Given the description of an element on the screen output the (x, y) to click on. 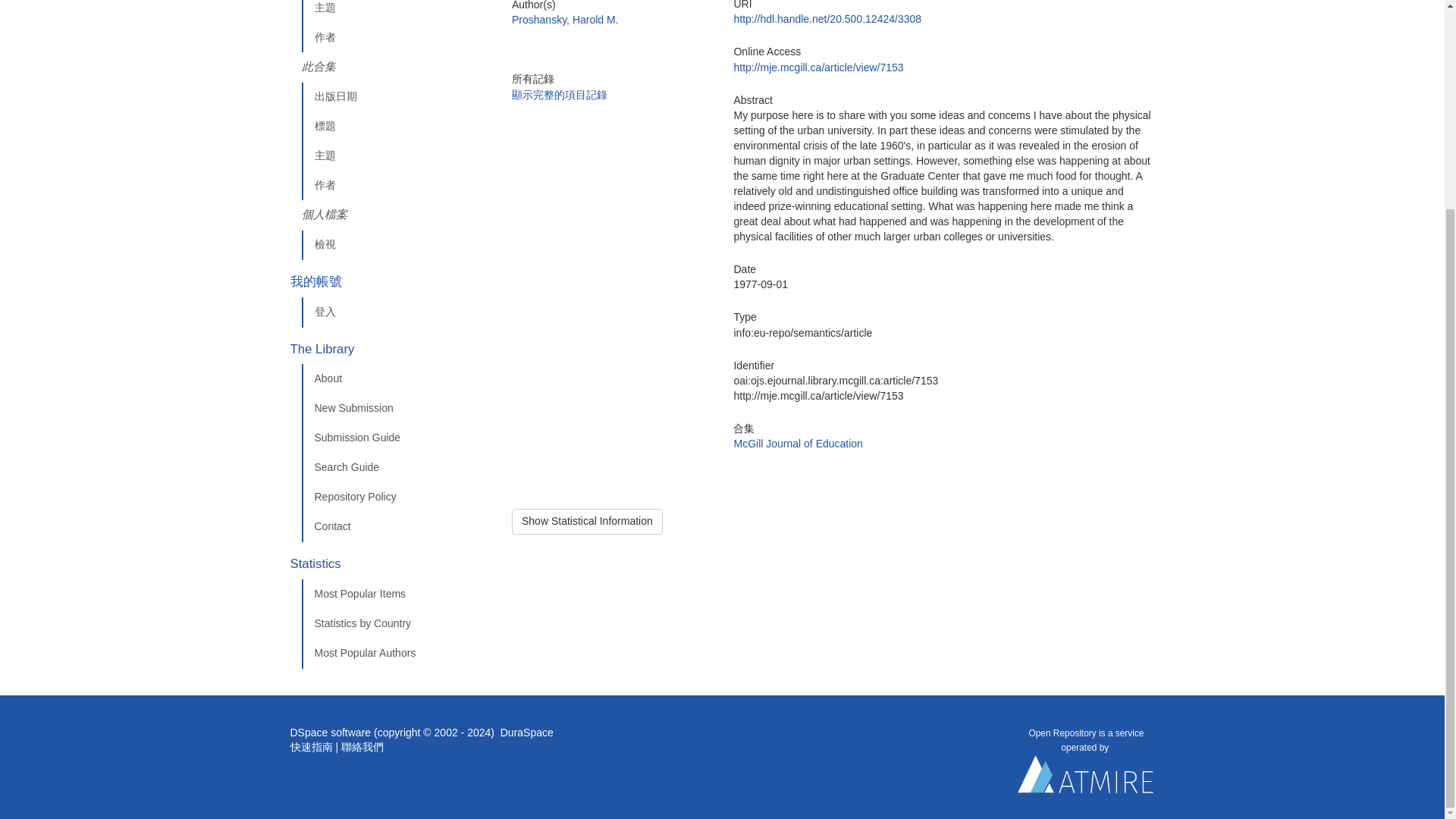
Atmire NV (1085, 778)
